Given the description of an element on the screen output the (x, y) to click on. 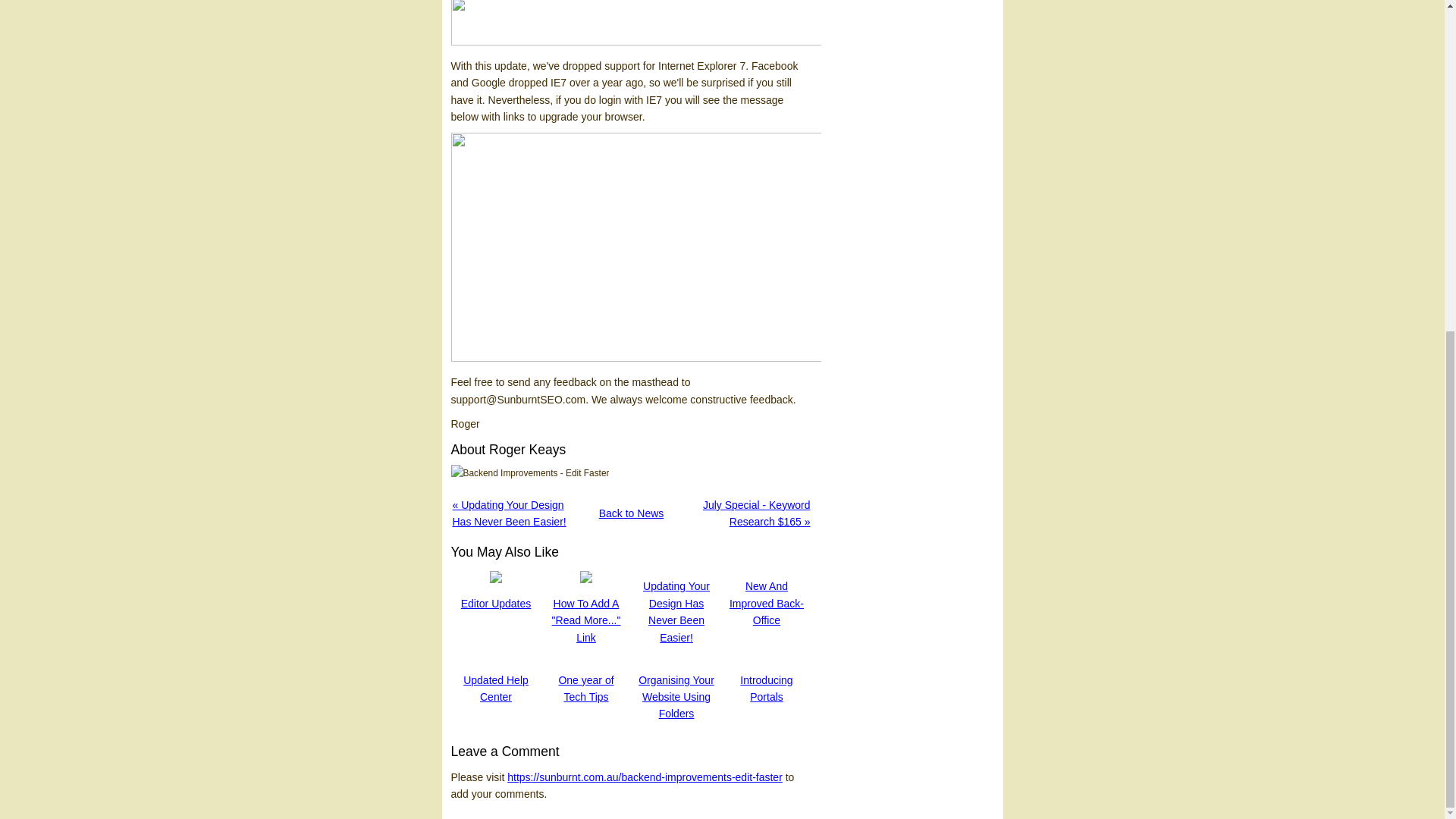
How To Add A "Read More..." Link (586, 620)
Updated Help Center (495, 688)
Introducing Portals (765, 688)
Updating Your Design Has Never Been Easier! (676, 610)
Editor Updates (496, 603)
Organising Your Website Using Folders (676, 697)
New And Improved Back-Office (766, 602)
Backend Improvements - Edit Faster (528, 473)
Back to News (630, 512)
One year of Tech Tips (584, 688)
